Given the description of an element on the screen output the (x, y) to click on. 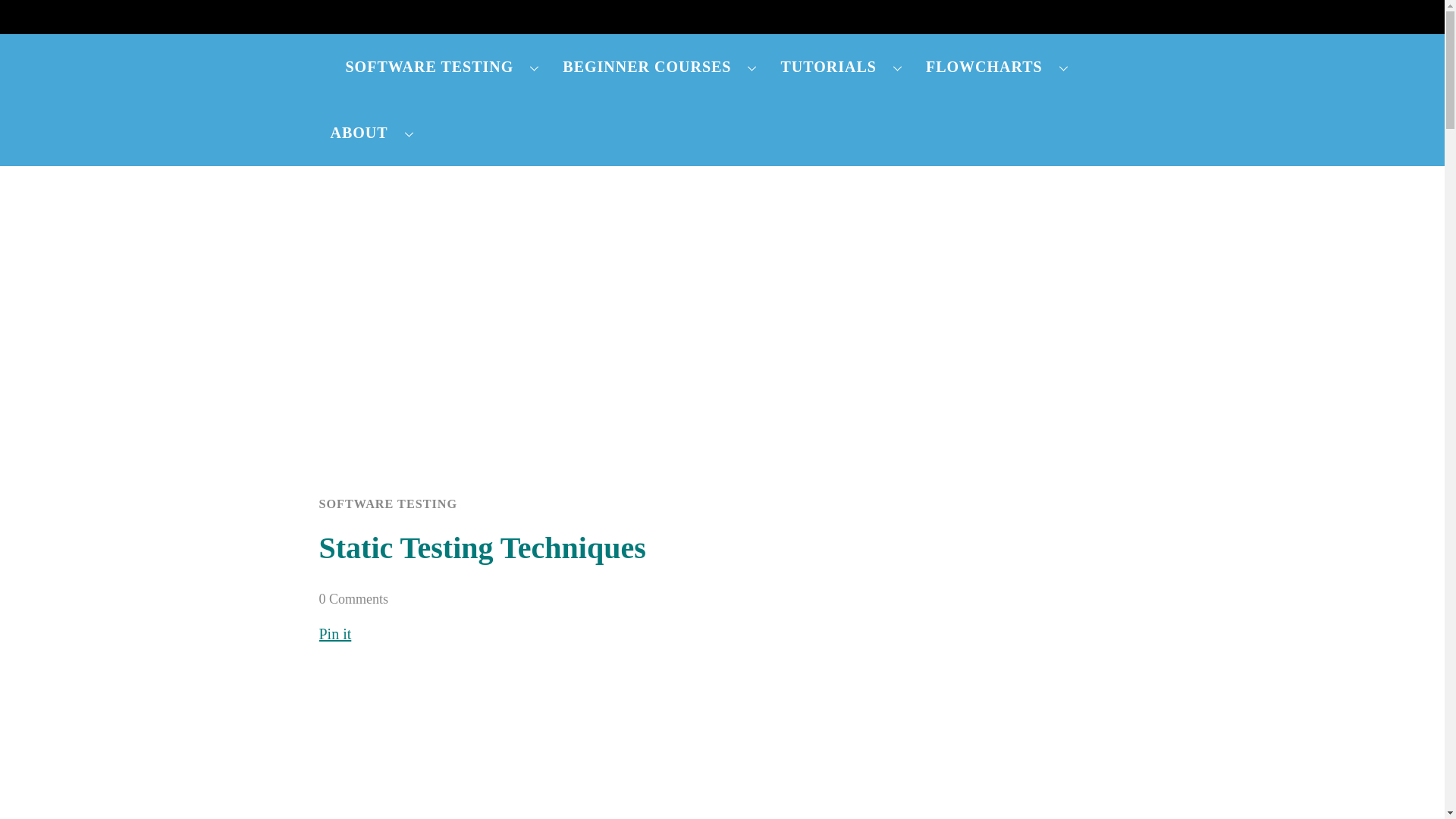
ABOUT (371, 132)
SOFTWARE TESTING (387, 504)
SOFTWARE TESTING (442, 66)
Static Testing Techniques (481, 547)
FLOWCHARTS (997, 66)
Pin it (334, 633)
0 Comments (353, 598)
BEGINNER COURSES (659, 66)
TUTORIALS (841, 66)
